Given the description of an element on the screen output the (x, y) to click on. 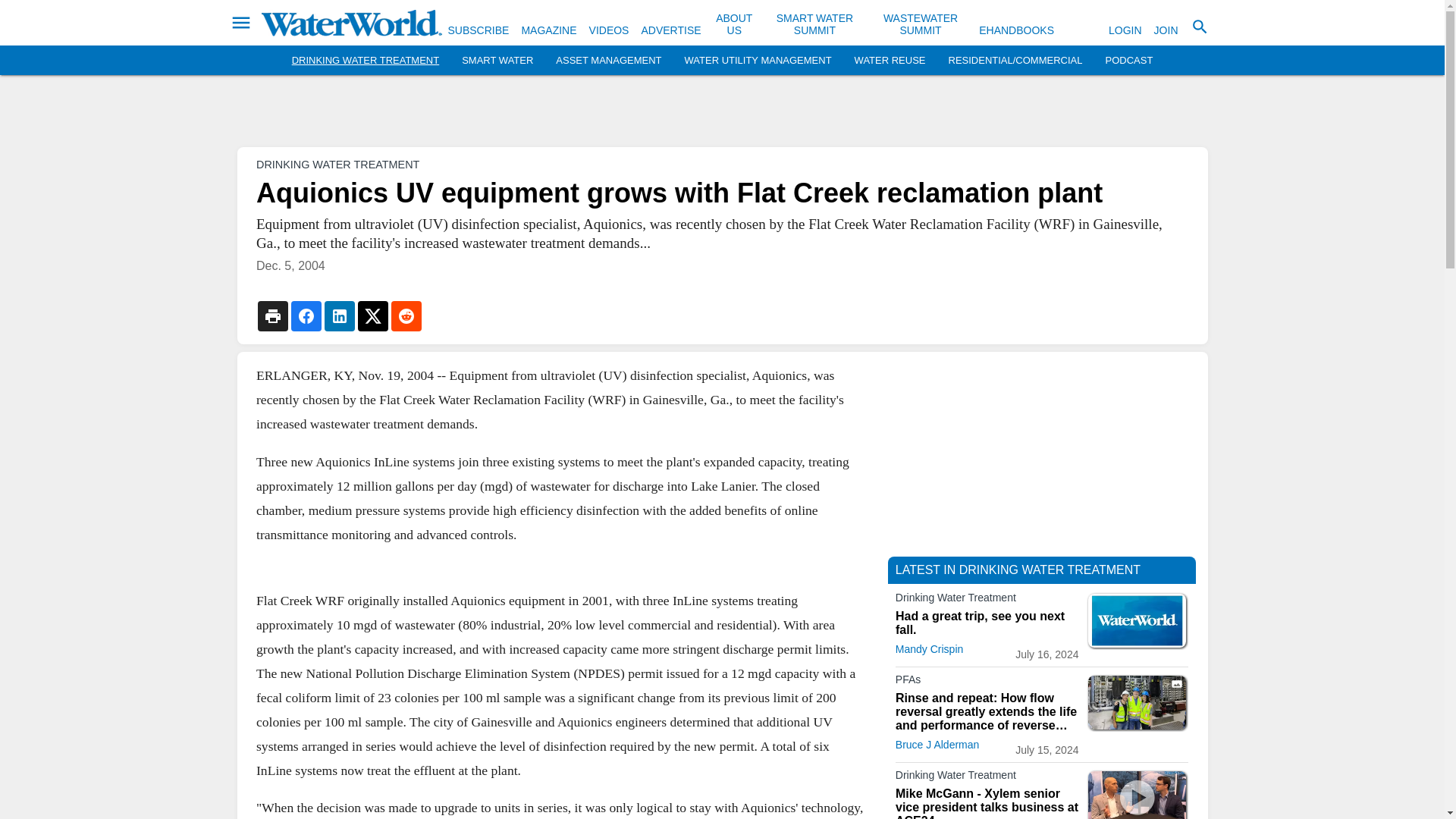
SMART WATER SUMMIT (814, 24)
WATER REUSE (890, 60)
MAGAZINE (548, 30)
SUBSCRIBE (477, 30)
ASSET MANAGEMENT (608, 60)
WASTEWATER SUMMIT (920, 24)
LOGIN (1124, 30)
WATER UTILITY MANAGEMENT (757, 60)
JOIN (1165, 30)
VIDEOS (608, 30)
DRINKING WATER TREATMENT (365, 60)
ABOUT US (734, 24)
PODCAST (1129, 60)
SMART WATER (496, 60)
EHANDBOOKS (1016, 30)
